Given the description of an element on the screen output the (x, y) to click on. 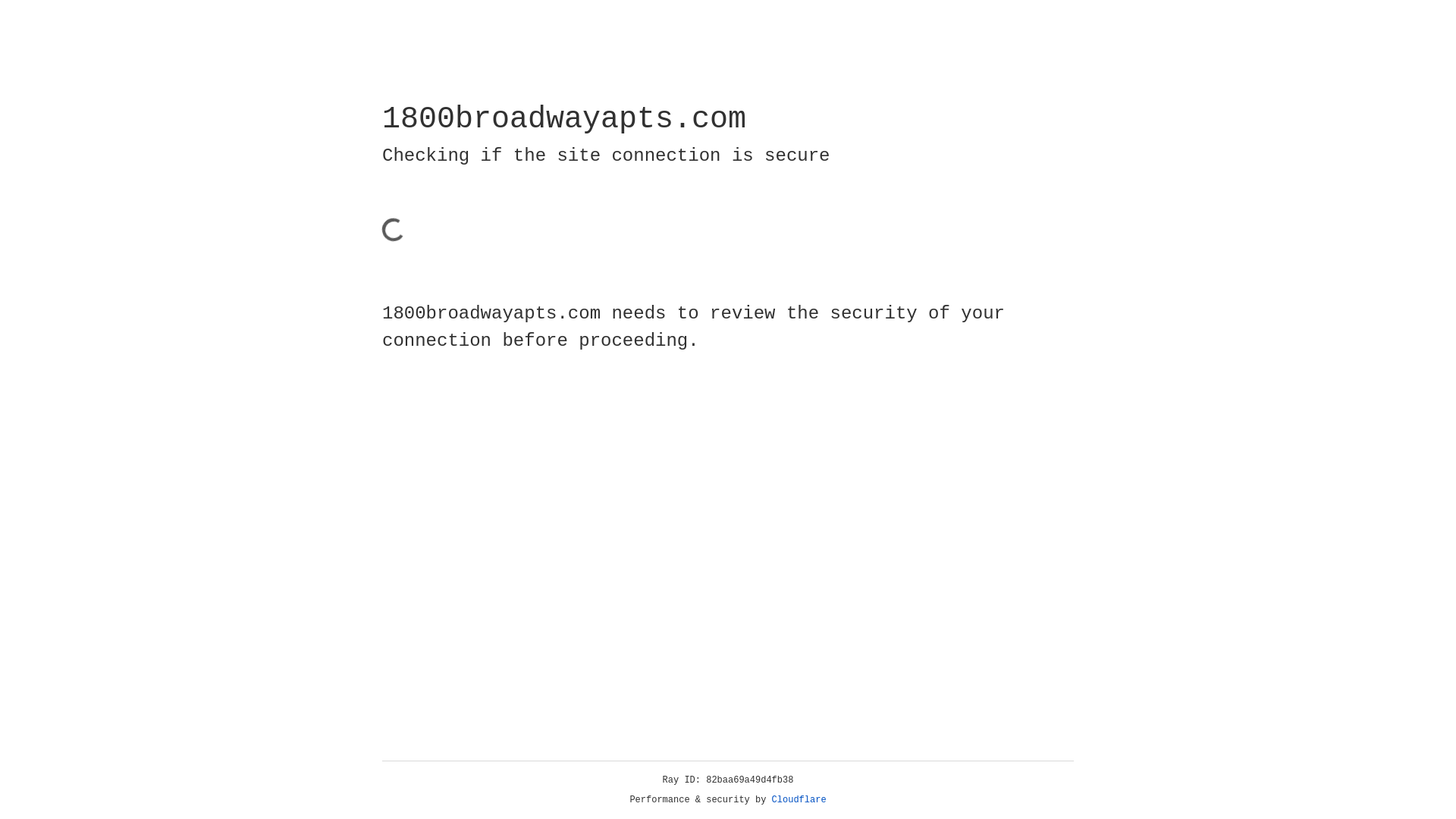
Cloudflare Element type: text (798, 799)
